Given the description of an element on the screen output the (x, y) to click on. 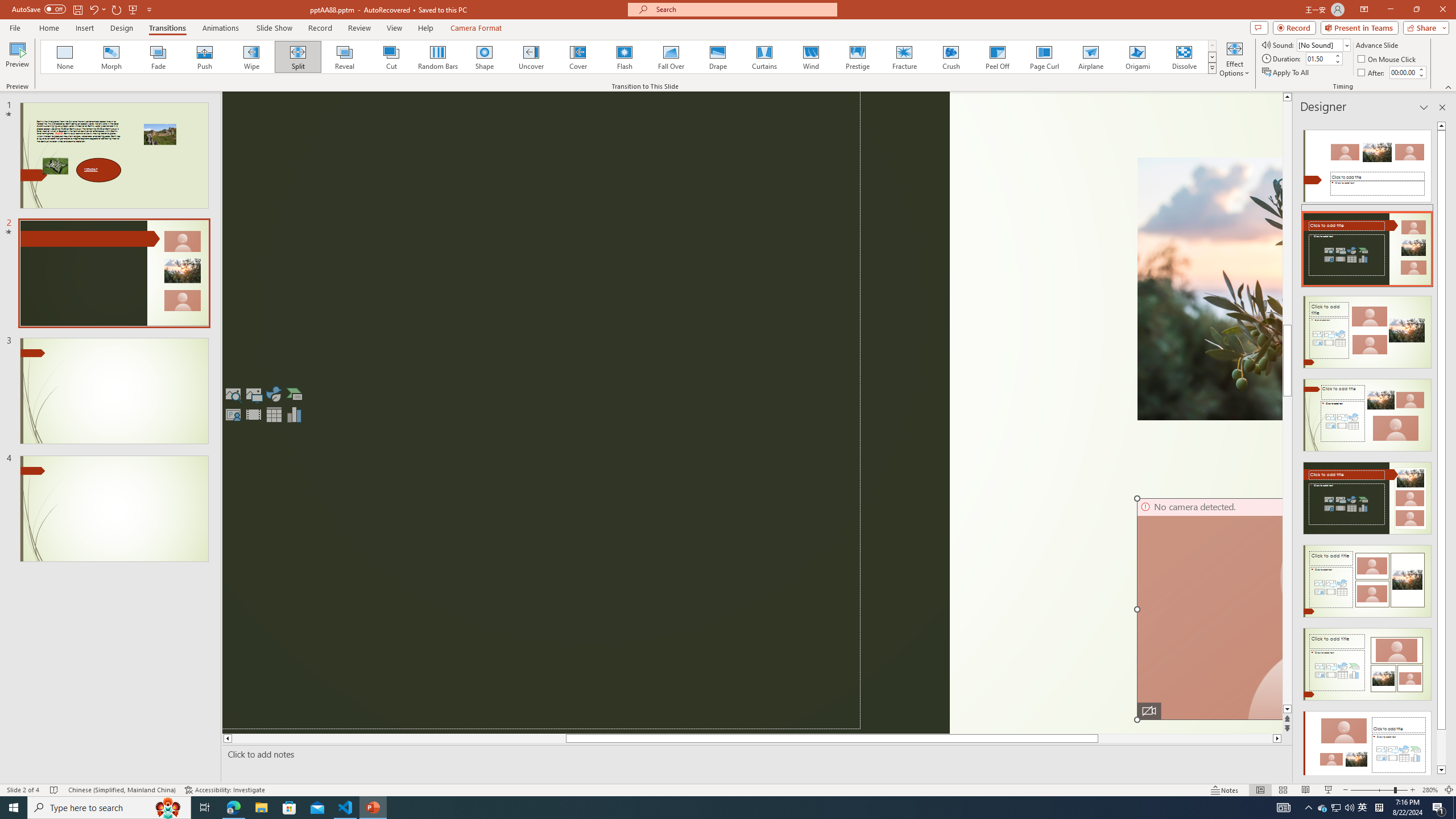
Crush (950, 56)
Random Bars (437, 56)
Microsoft search (742, 9)
Camera Format (475, 28)
Cover (577, 56)
Insert Video (253, 414)
Slide (114, 508)
Reveal (344, 56)
